Given the description of an element on the screen output the (x, y) to click on. 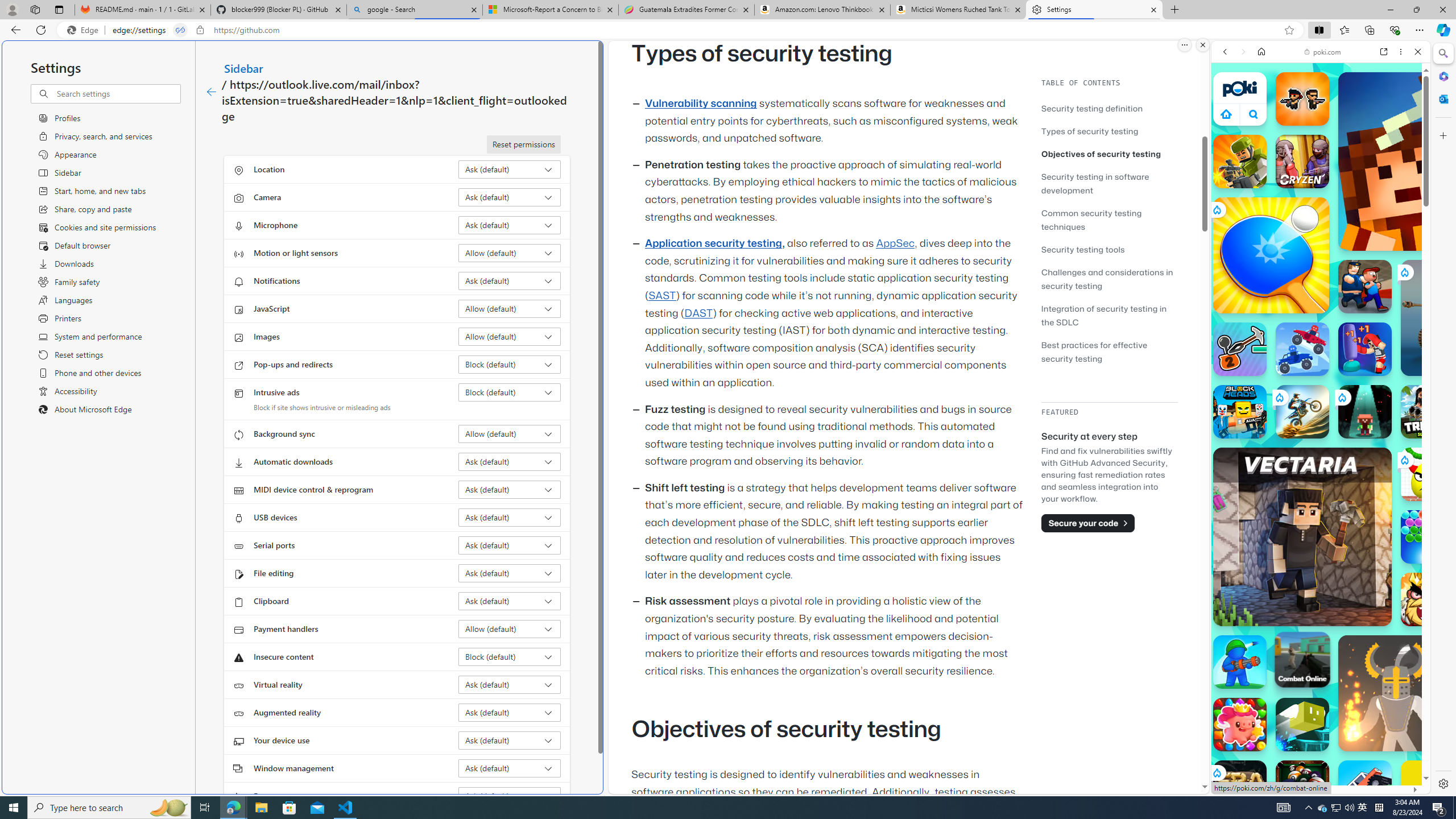
Location Ask (default) (509, 169)
File editing Ask (default) (509, 573)
DAST (698, 312)
Games for Girls (1320, 407)
Search settings (117, 93)
Stickman Climb 2 (1239, 348)
Car Games (1320, 267)
Quivershot (1364, 411)
Monster Tracks (1364, 787)
Crazy Cars (1419, 574)
Microphone Ask (default) (509, 225)
